Given the description of an element on the screen output the (x, y) to click on. 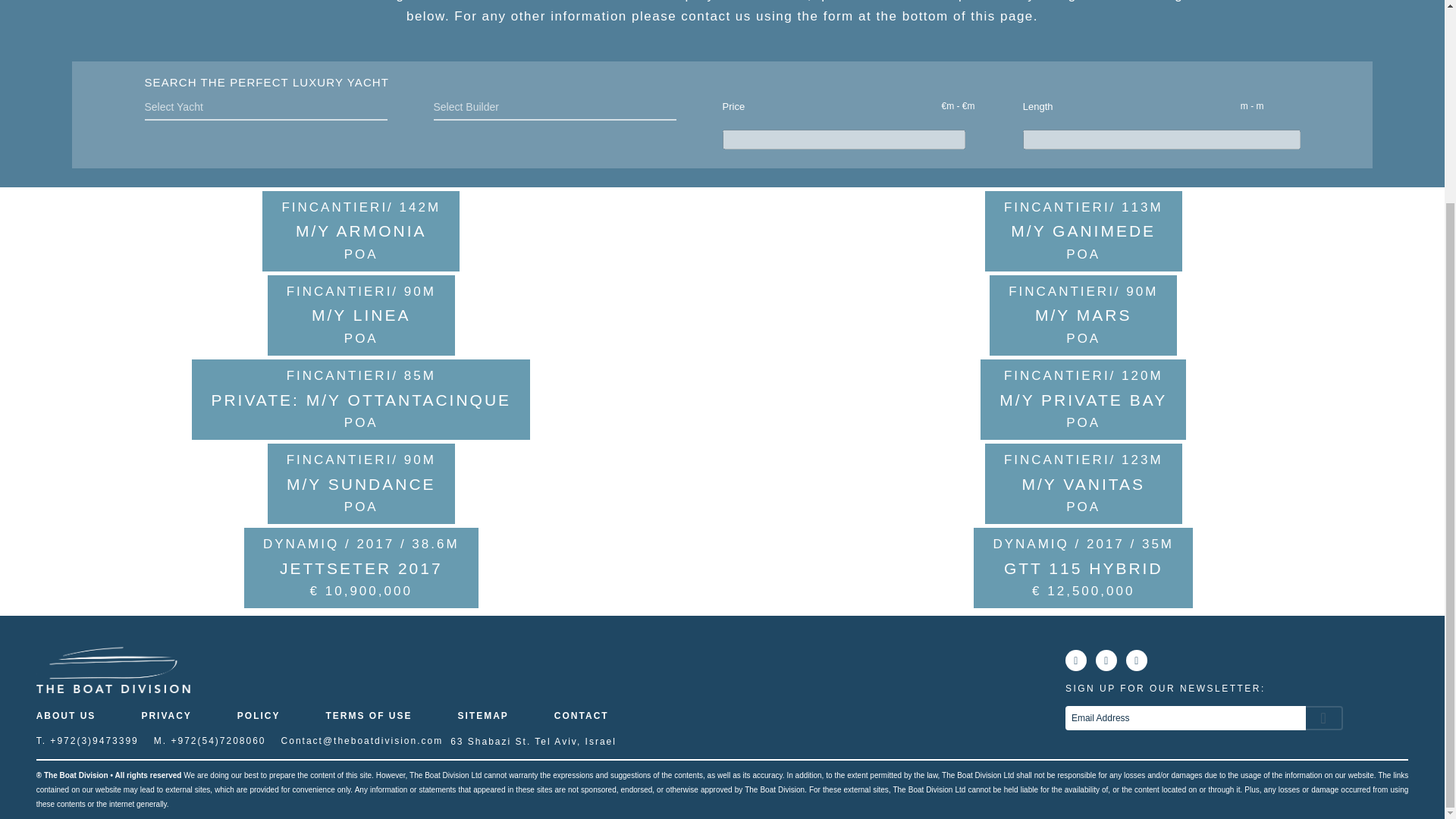
POA (1082, 254)
POA (360, 422)
PRIVACY (165, 715)
ABOUT US (77, 715)
POA (1082, 338)
POLICY (258, 715)
POA (1082, 507)
POA (360, 507)
POA (1082, 422)
POA (360, 338)
